Given the description of an element on the screen output the (x, y) to click on. 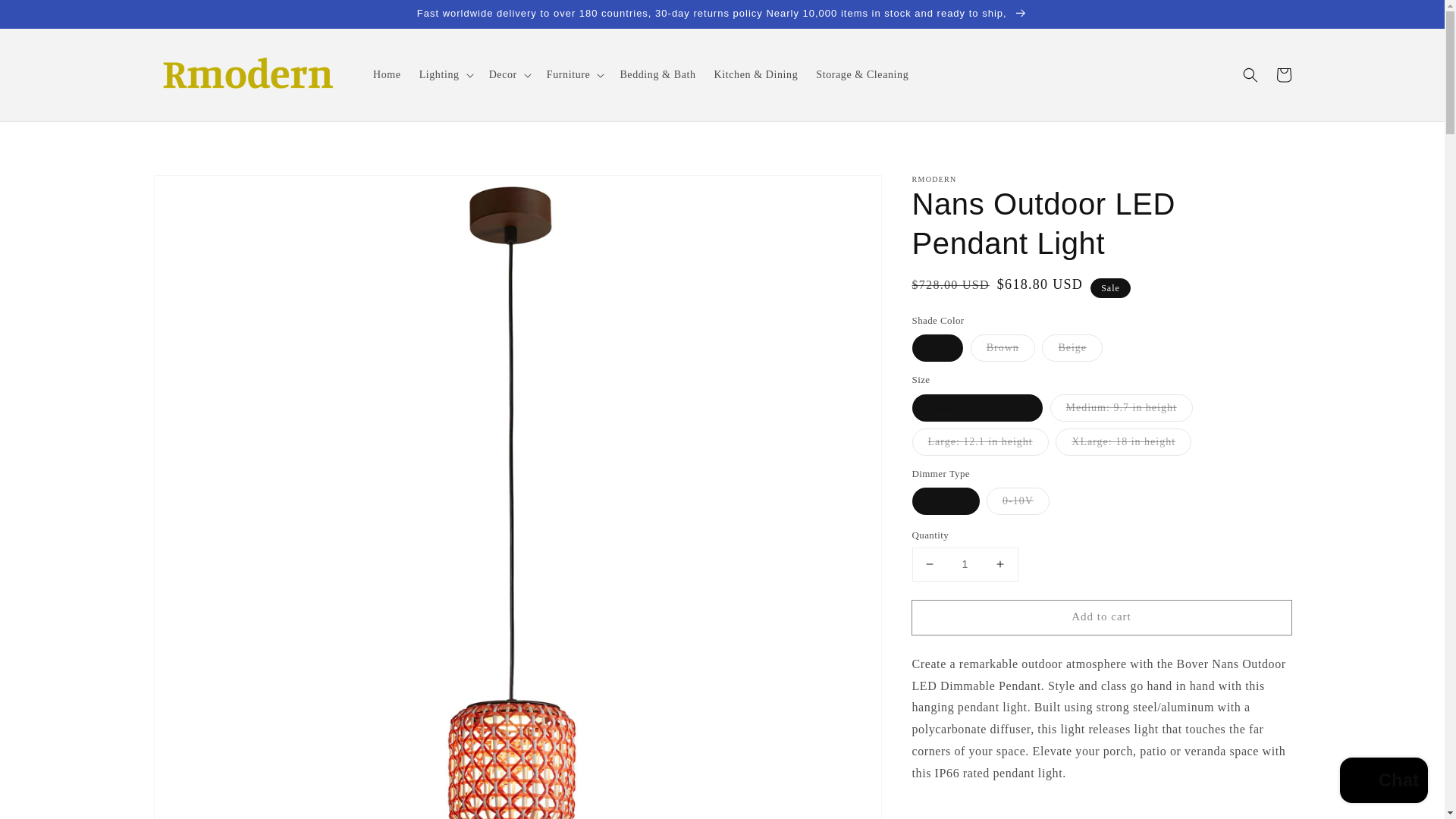
Skip to content (45, 16)
Shopify online store chat (1383, 781)
